Given the description of an element on the screen output the (x, y) to click on. 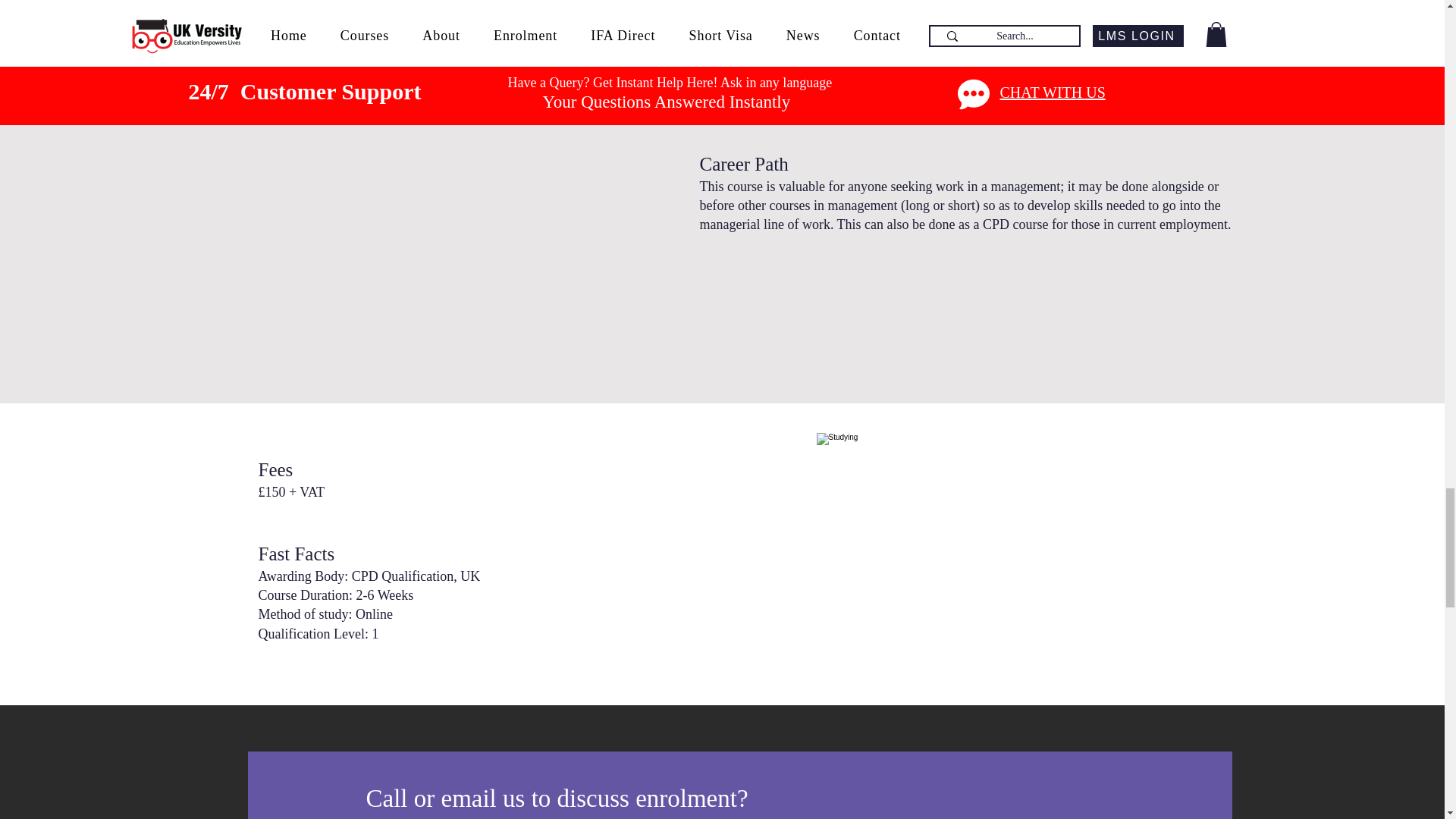
Business Meeting.jpg (1027, 558)
